Given the description of an element on the screen output the (x, y) to click on. 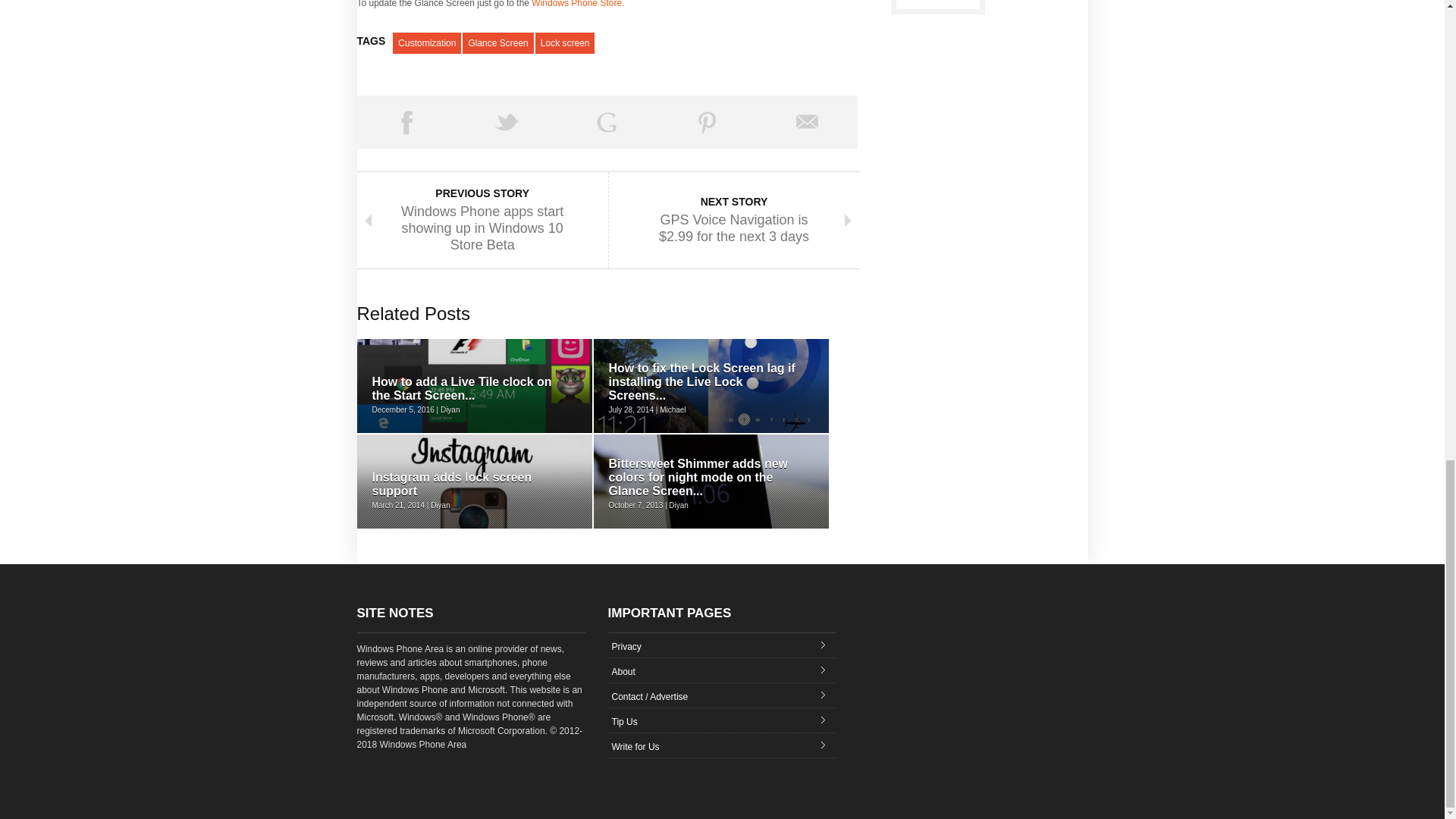
Email This (807, 121)
Glance Screen (497, 43)
Tweet This (507, 121)
Share on Facebook (406, 121)
Customization (427, 43)
Share on Google Plus (607, 121)
Lock screen (565, 43)
Pin This (707, 121)
Windows Phone Store (576, 4)
